Given the description of an element on the screen output the (x, y) to click on. 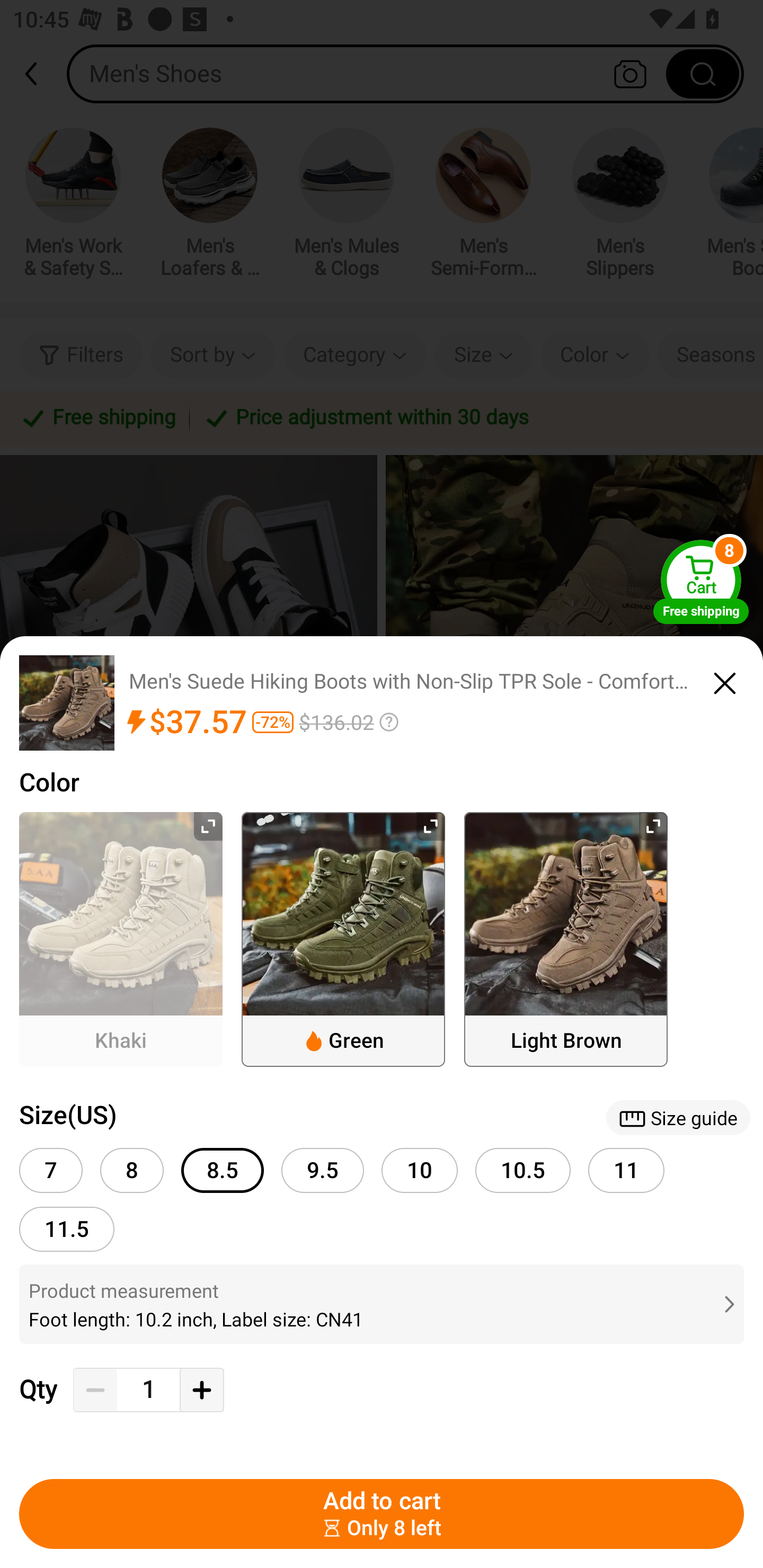
Cart Free shipping Cart (701, 581)
close (724, 680)
Khaki (120, 939)
Green ￼Green (342, 939)
Light Brown (565, 939)
￼Size guide (677, 1117)
 7 (50, 1170)
 8 (131, 1170)
 8.5 (222, 1170)
 9.5 (322, 1170)
 10 (419, 1170)
 10.5 (522, 1170)
 11 (626, 1170)
 11.5 (66, 1229)
Decrease Quantity Button (95, 1389)
Add Quantity Button (201, 1389)
1 (148, 1389)
Add to cart ￼￼Only 8 left (381, 1513)
